Given the description of an element on the screen output the (x, y) to click on. 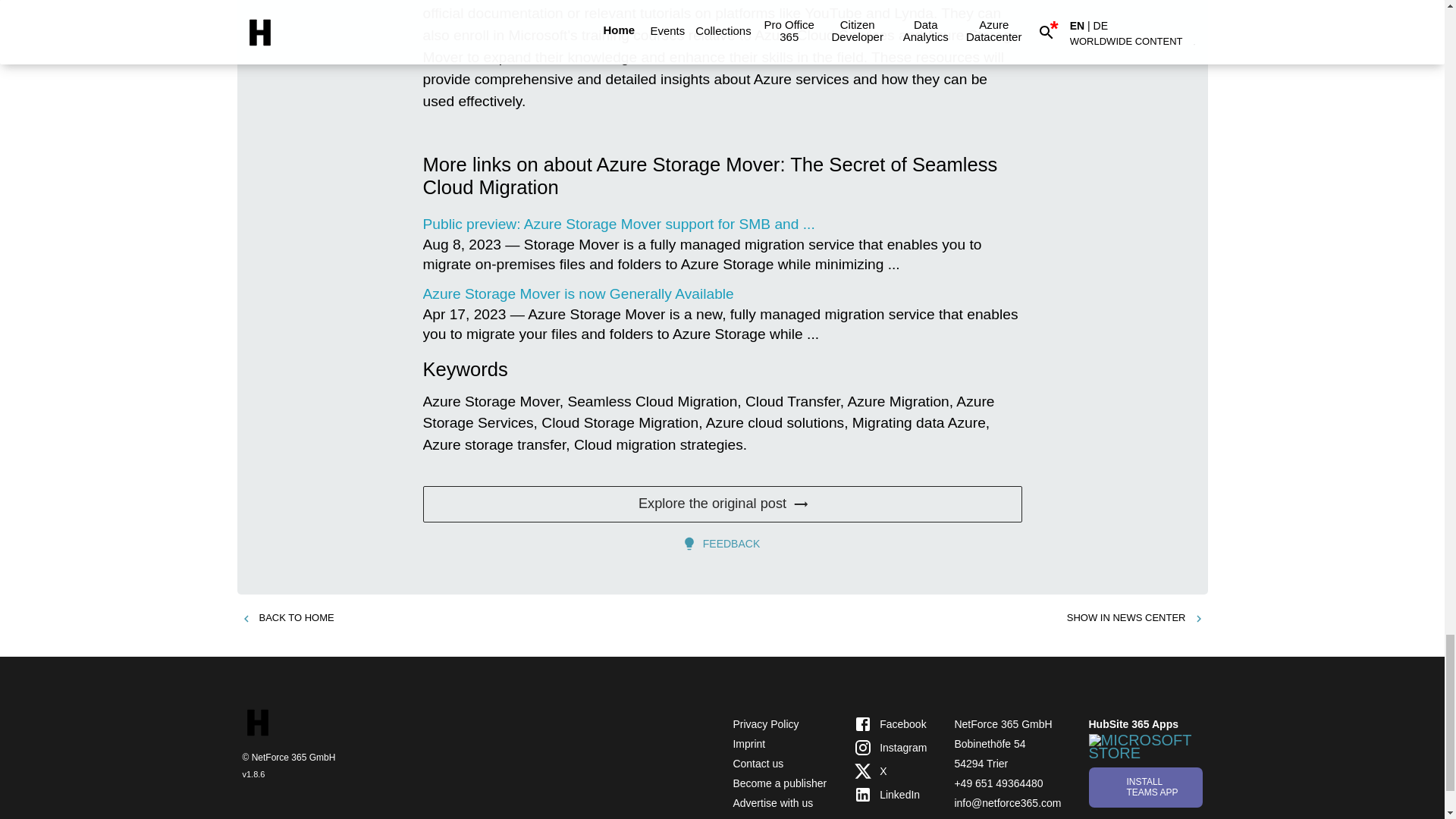
BACK TO HOME (286, 617)
X (889, 771)
FEEDBACK (721, 543)
Advertise with us (772, 802)
SHOW IN NEWS CENTER (1135, 617)
Azure Storage Mover is now Generally Available (578, 293)
Contact us (757, 763)
Facebook (889, 723)
Install app (1145, 787)
Become a publisher (779, 783)
